Given the description of an element on the screen output the (x, y) to click on. 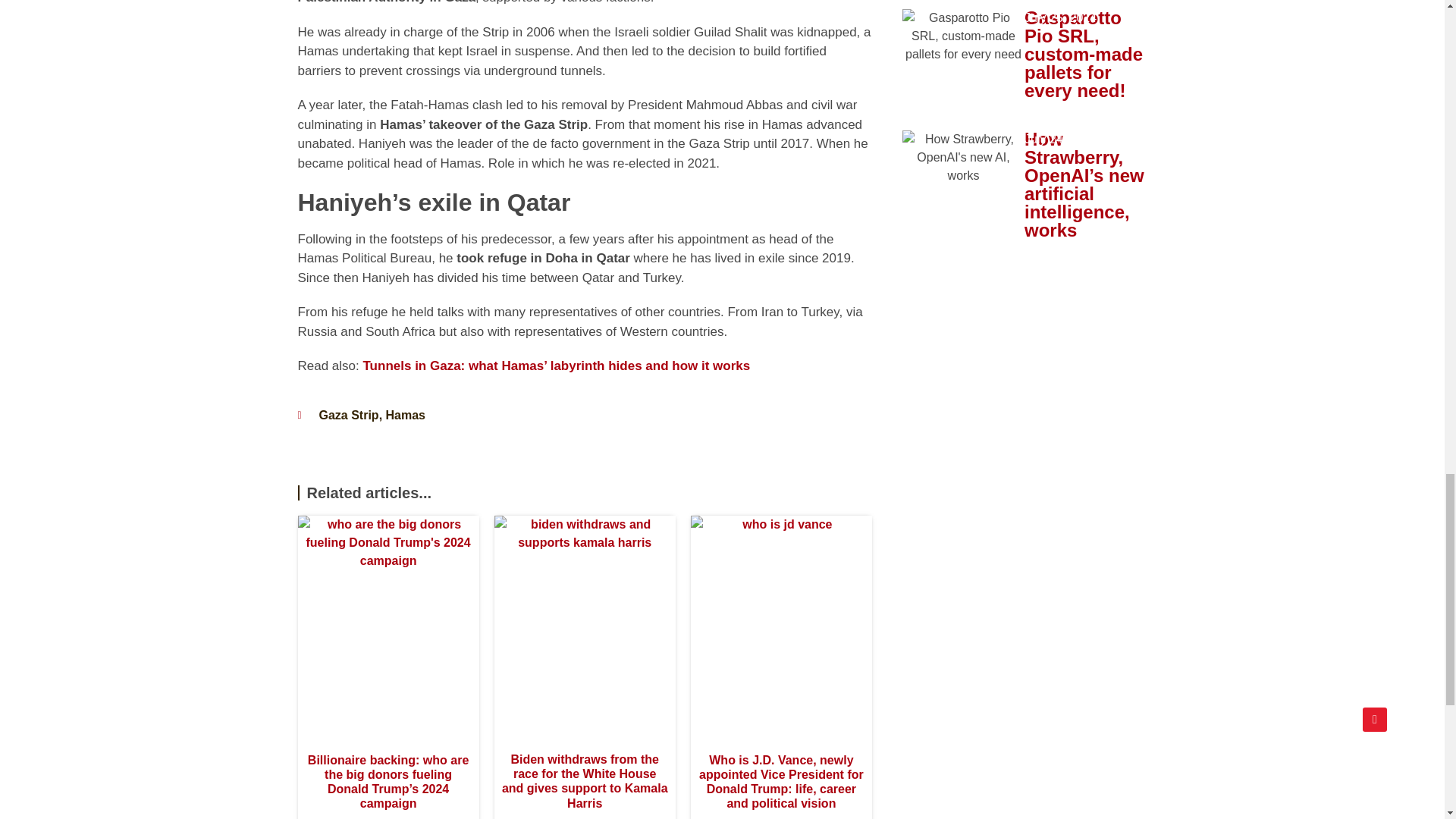
Gaza Strip (348, 414)
Hamas (405, 414)
